Given the description of an element on the screen output the (x, y) to click on. 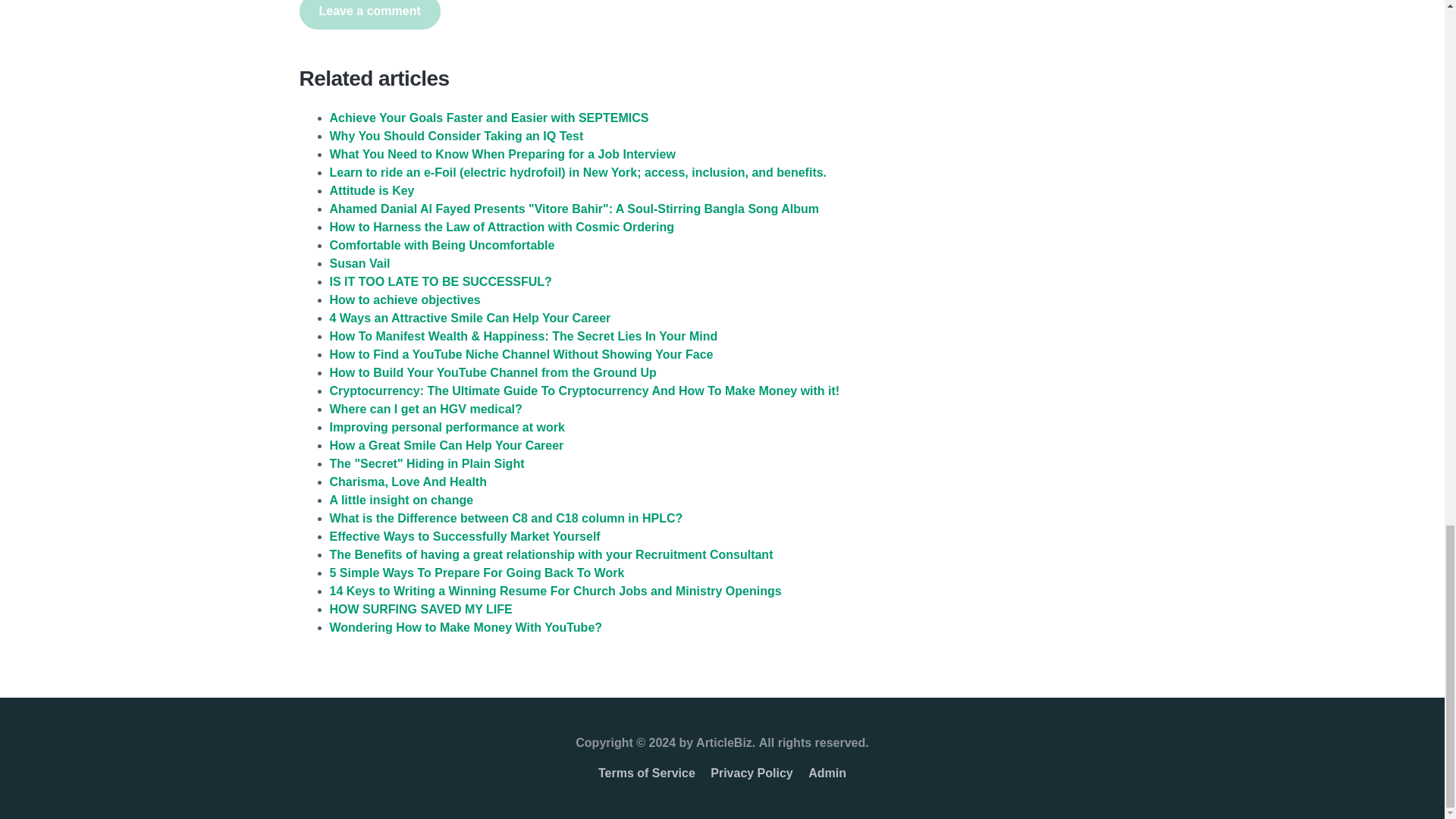
Leave a comment (368, 14)
Achieve Your Goals Faster and Easier with SEPTEMICS (488, 117)
How to Harness the Law of Attraction with Cosmic Ordering (501, 226)
Why You Should Consider Taking an IQ Test (456, 135)
What You Need to Know When Preparing for a Job Interview (502, 154)
Comfortable with Being Uncomfortable (441, 245)
Susan Vail (359, 263)
IS IT TOO LATE TO BE SUCCESSFUL? (440, 281)
4 Ways an Attractive Smile Can Help Your Career (469, 318)
How to achieve objectives (404, 299)
Attitude is Key (371, 190)
